Given the description of an element on the screen output the (x, y) to click on. 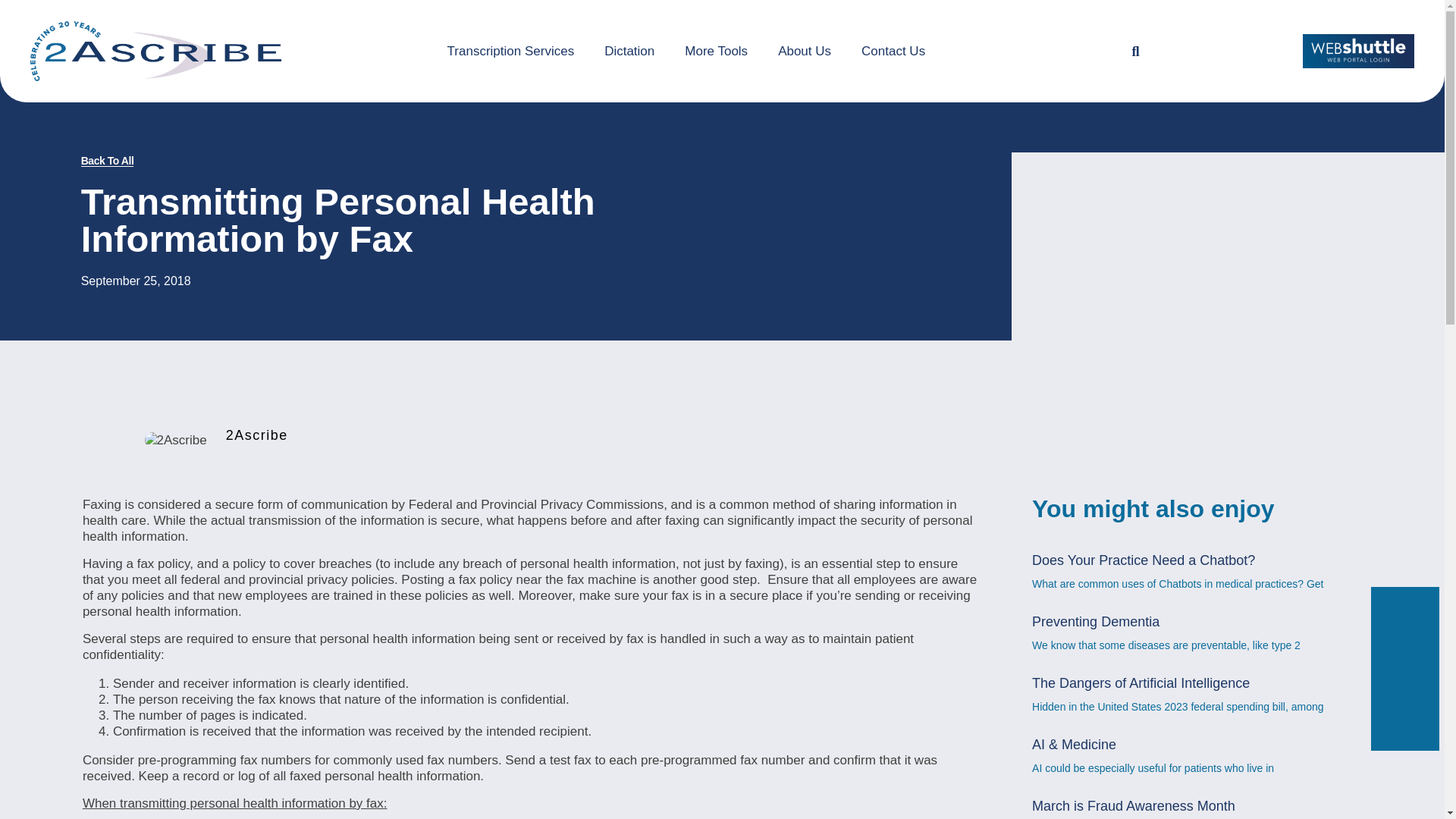
Dictation (629, 50)
About Us (803, 50)
More Tools (715, 50)
Contact Us (892, 50)
WEBshuttle (1358, 50)
Back To All (107, 161)
Transcription Services (510, 50)
Does Your Practice Need a Chatbot? (1143, 560)
